Given the description of an element on the screen output the (x, y) to click on. 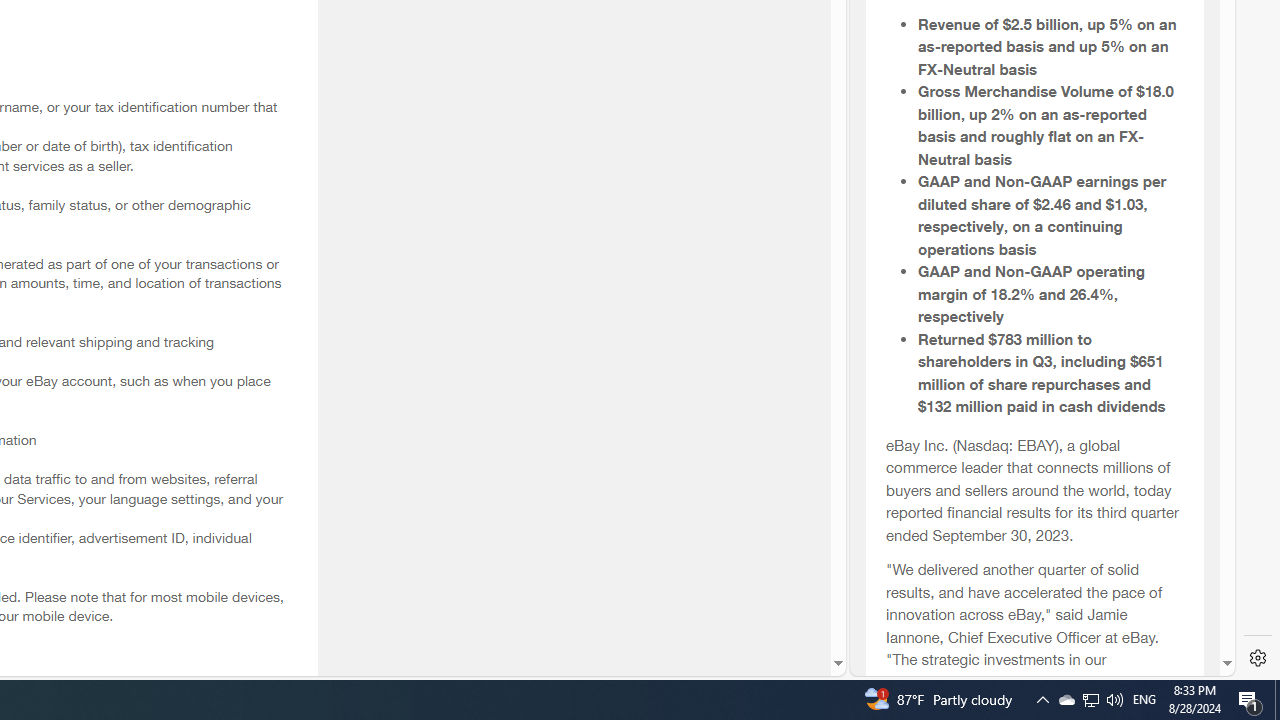
About eBay (1034, 244)
includes synonym (1034, 629)
includes synonym (1034, 629)
eBay Inc. Reports Third Quarter 2023 Results (1034, 273)
